Given the description of an element on the screen output the (x, y) to click on. 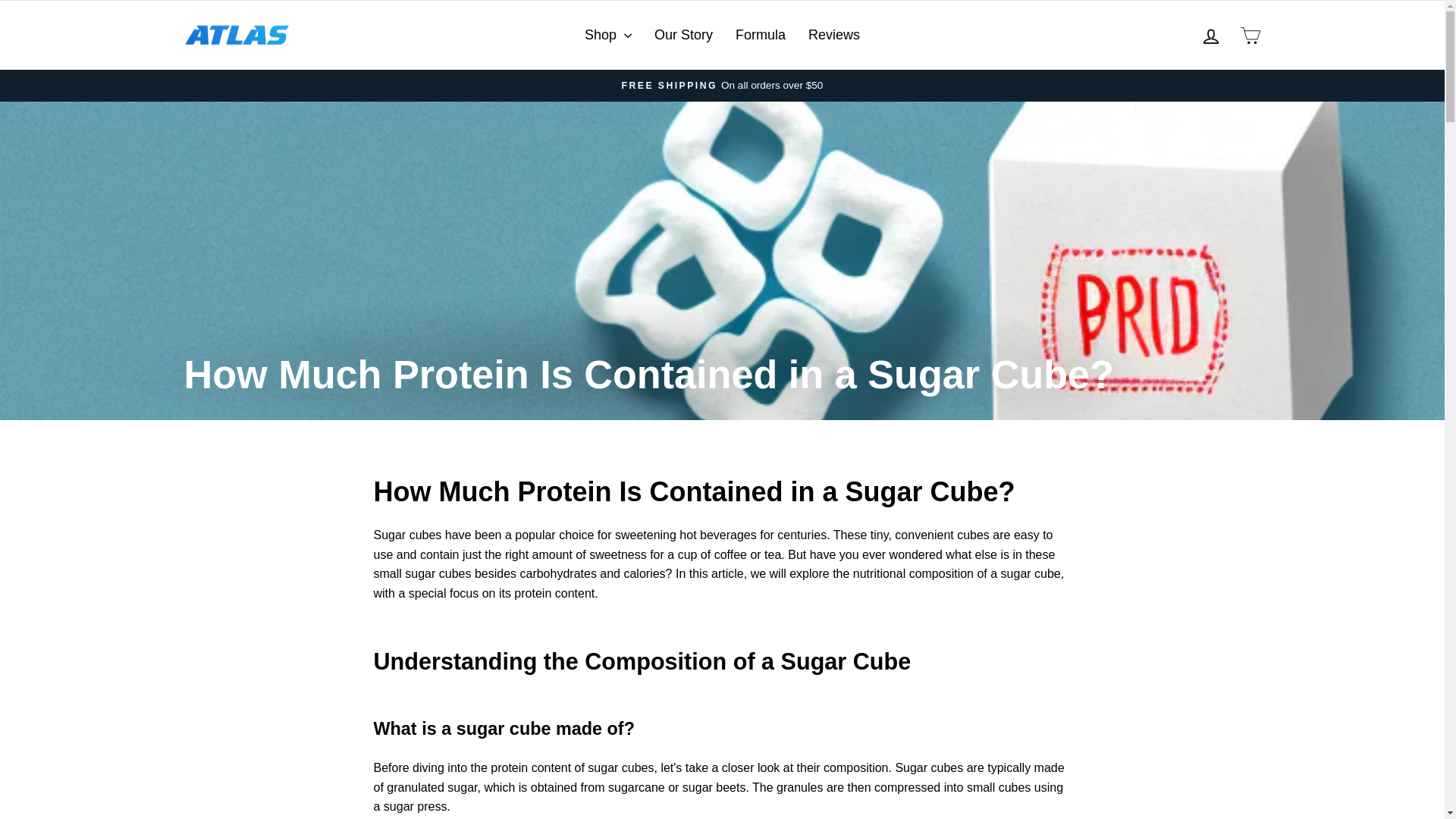
Reviews (1210, 34)
account (833, 35)
Cart (1210, 35)
Formula (1249, 34)
Our Story (759, 35)
